Given the description of an element on the screen output the (x, y) to click on. 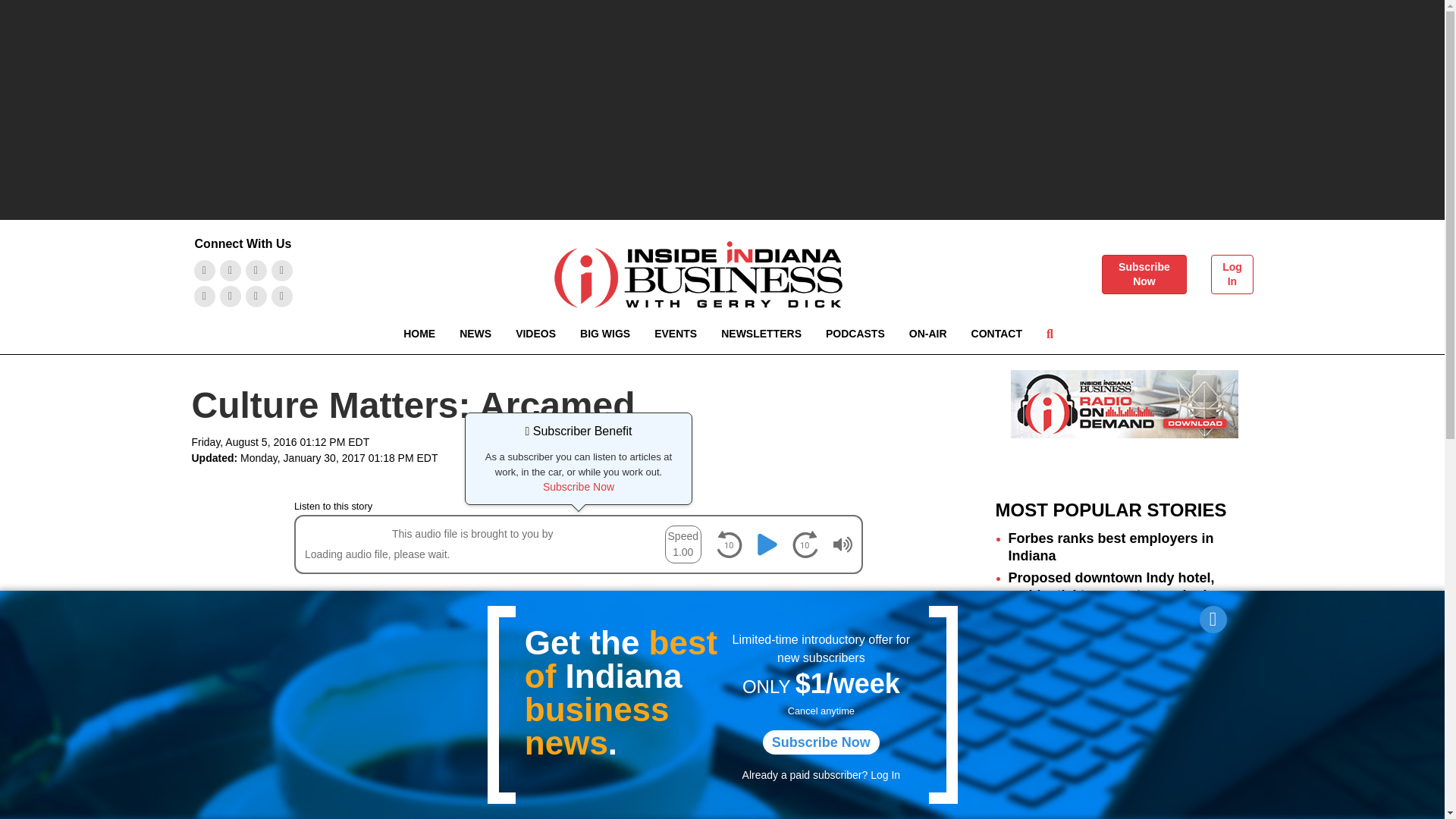
BIG WIGS (604, 333)
Subscribe Now (1143, 274)
CONTACT (996, 333)
HOME (418, 333)
Log In (1231, 274)
EVENTS (675, 333)
ON-AIR (927, 333)
NEWS (474, 333)
VIDEOS (535, 333)
PODCASTS (854, 333)
